Given the description of an element on the screen output the (x, y) to click on. 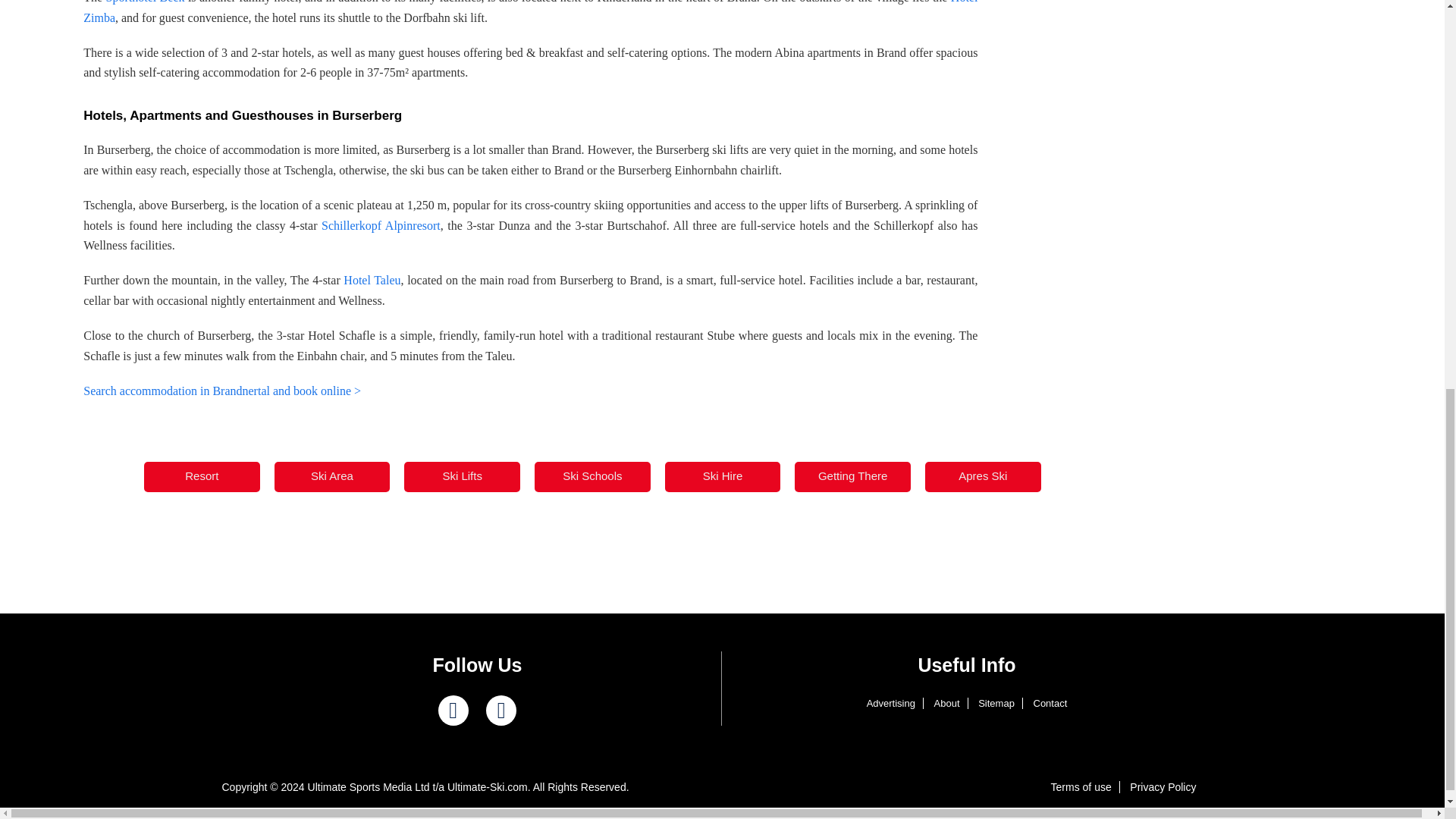
Alpenhotel Zimba Brandnertal (529, 11)
Sporthotel Beck (145, 2)
Schillerkopf Alpinresort Brandnertal (381, 225)
Hotel Taleu Brandnertal (371, 279)
Hotel Zimba (529, 11)
Sporthotel Beck Brandnertal (145, 2)
